Given the description of an element on the screen output the (x, y) to click on. 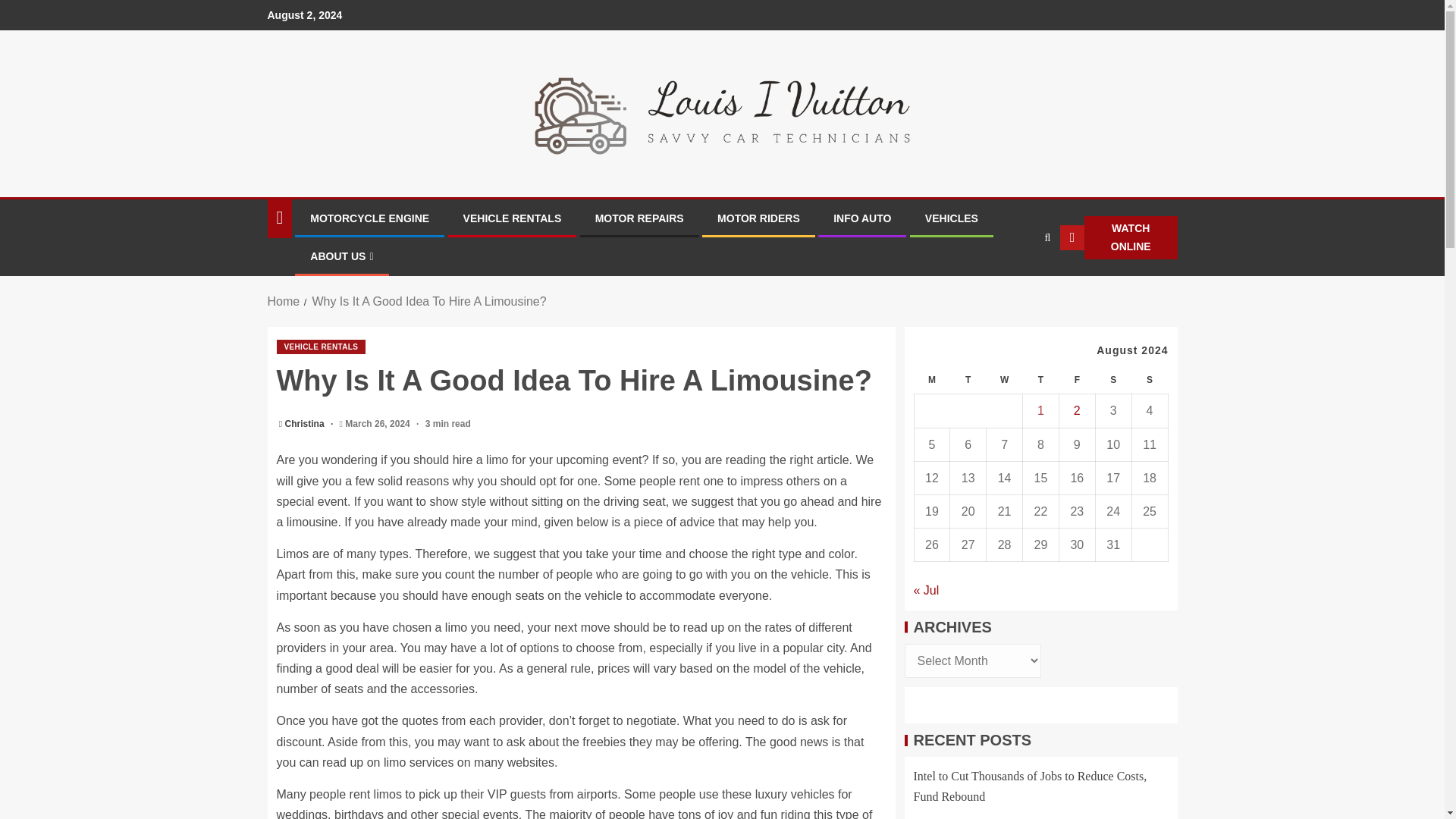
MOTOR REPAIRS (639, 218)
Friday (1076, 379)
Sunday (1149, 379)
INFO AUTO (861, 218)
Tuesday (968, 379)
Saturday (1112, 379)
Wednesday (1005, 379)
Thursday (1041, 379)
VEHICLES (951, 218)
WATCH ONLINE (1117, 238)
Monday (932, 379)
VEHICLE RENTALS (512, 218)
MOTOR RIDERS (758, 218)
Home (282, 300)
ABOUT US (341, 256)
